Given the description of an element on the screen output the (x, y) to click on. 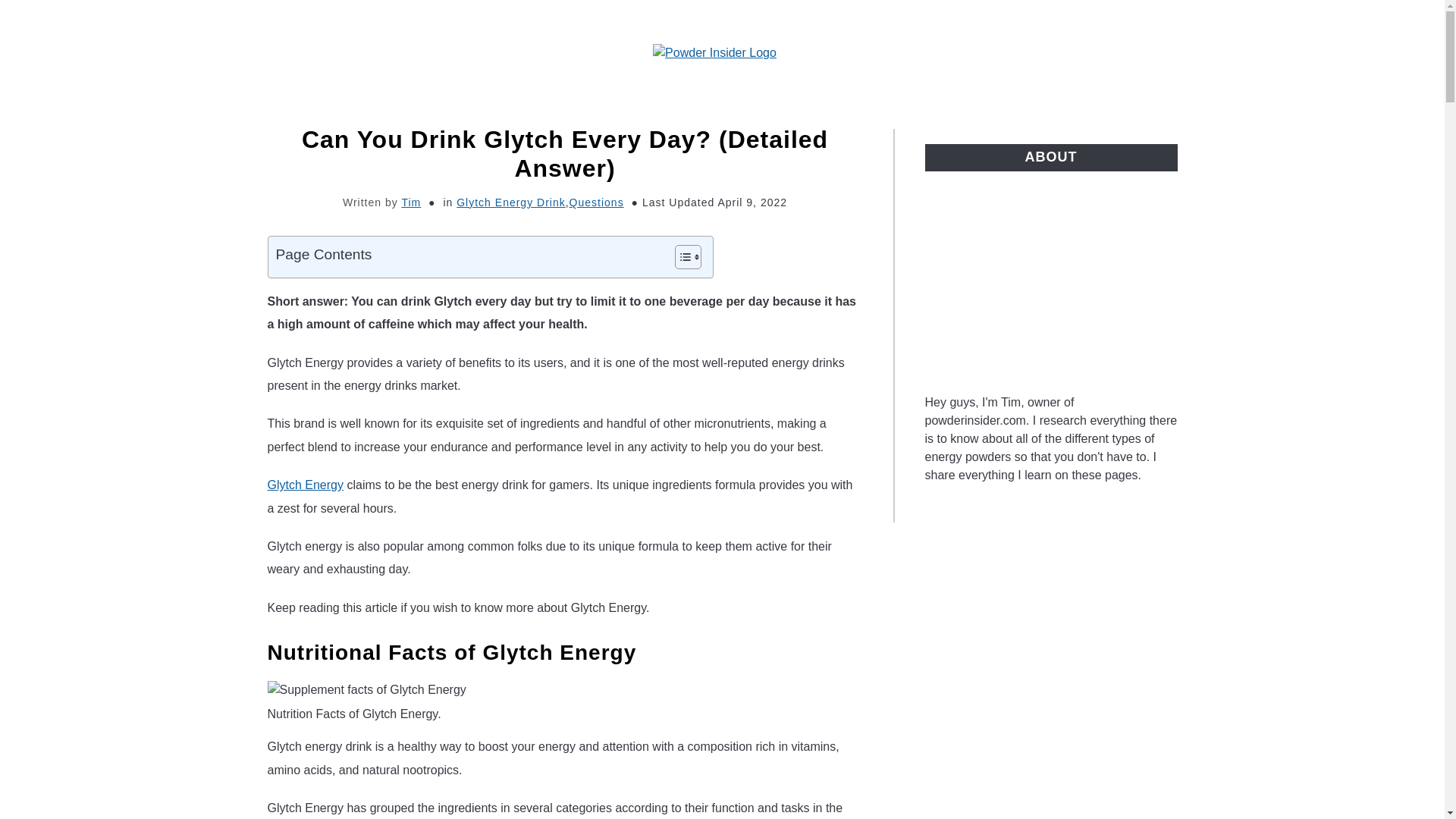
Glytch Energy Drink (510, 202)
Tim (410, 202)
Search (1203, 49)
Questions (596, 202)
